Given the description of an element on the screen output the (x, y) to click on. 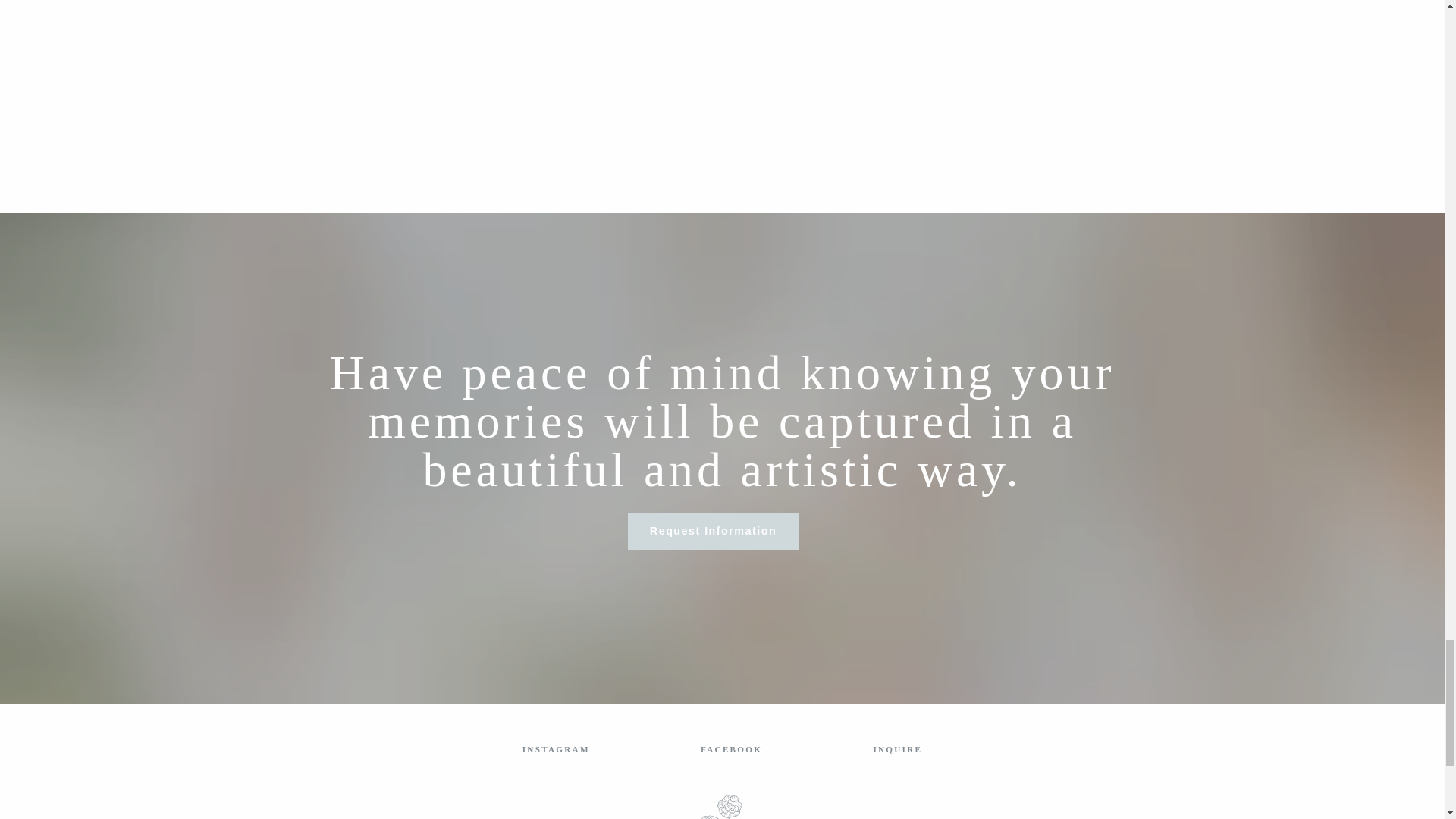
Request Information (712, 530)
FACEBOOK (730, 748)
INQUIRE (896, 748)
INSTAGRAM (555, 748)
